Given the description of an element on the screen output the (x, y) to click on. 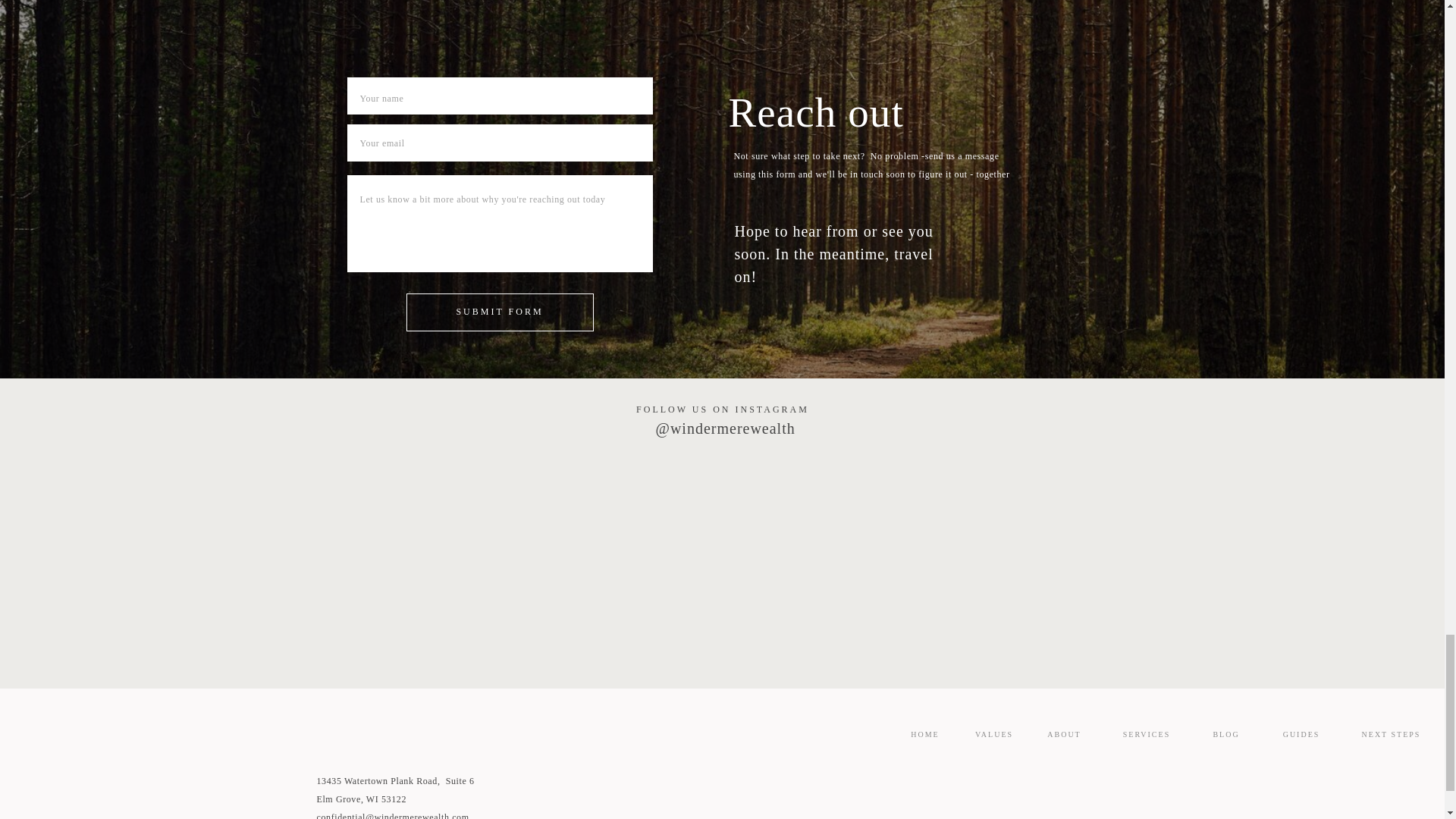
VALUES (993, 735)
ABOUT (1063, 735)
NEXT STEPS (1390, 735)
SERVICES (1146, 735)
BLOG (1226, 735)
SUBMIT FORM (499, 312)
